Given the description of an element on the screen output the (x, y) to click on. 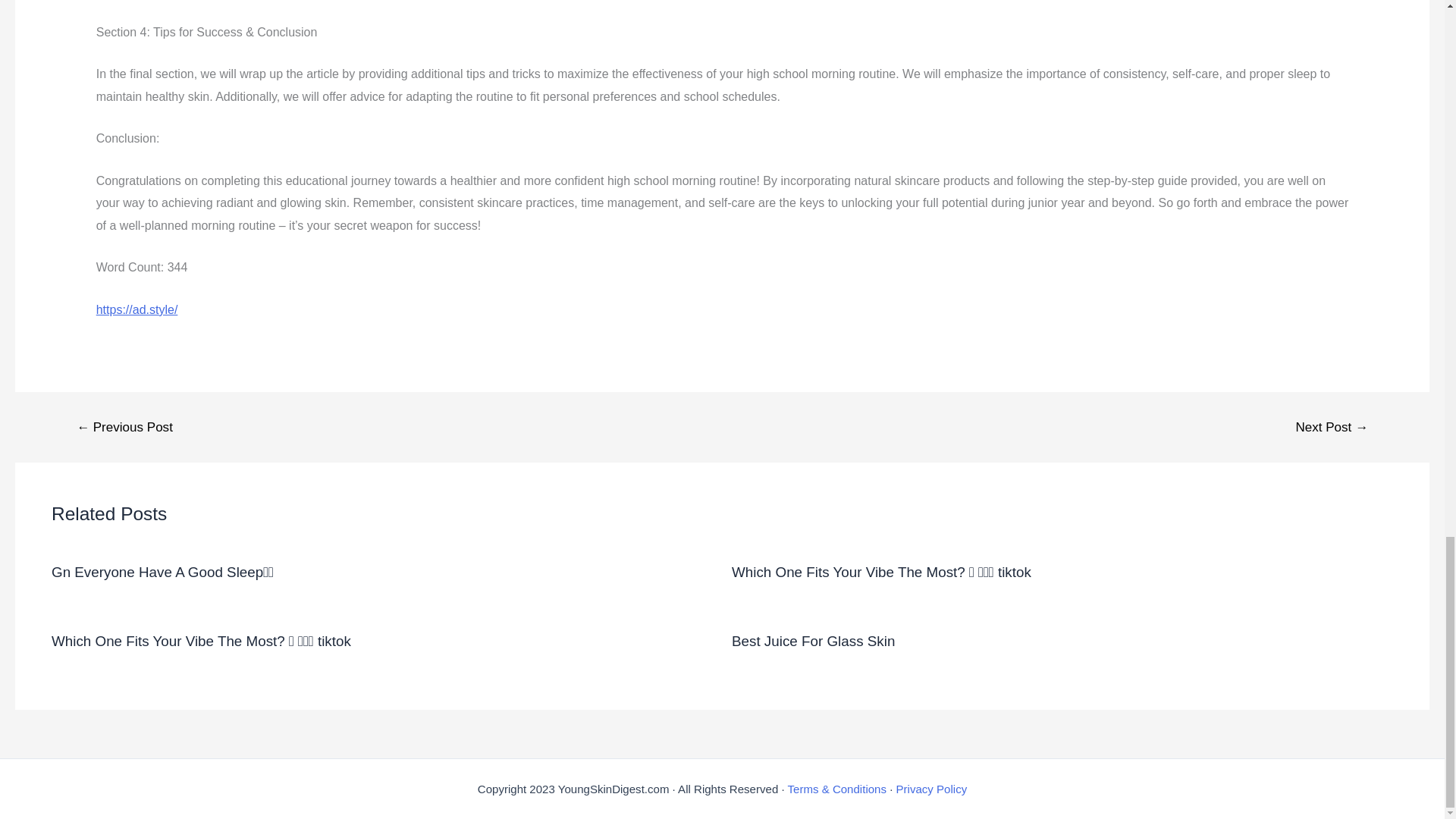
Privacy Policy (932, 788)
Best Juice For Glass Skin (813, 641)
